Given the description of an element on the screen output the (x, y) to click on. 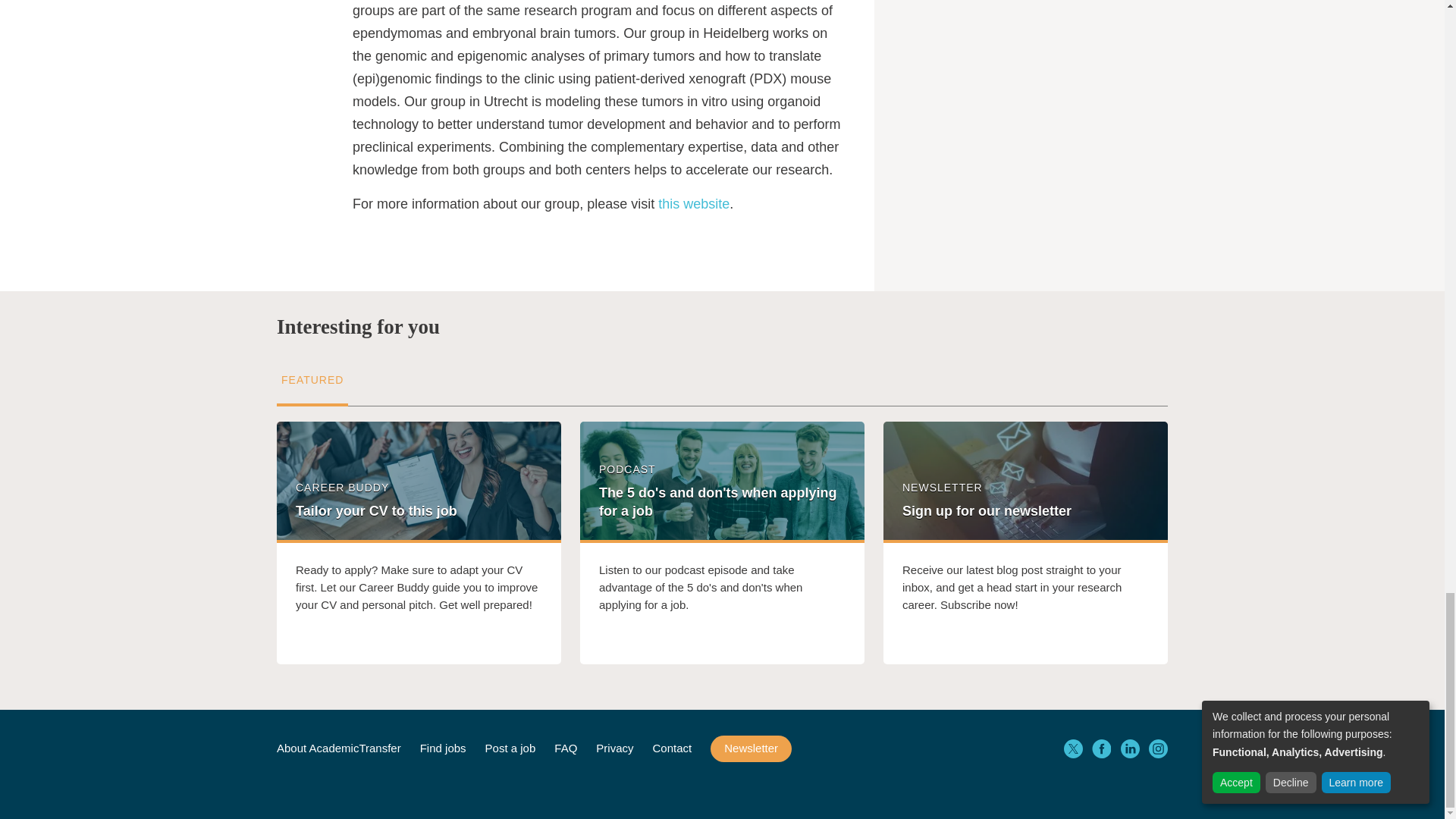
this website (693, 203)
